Given the description of an element on the screen output the (x, y) to click on. 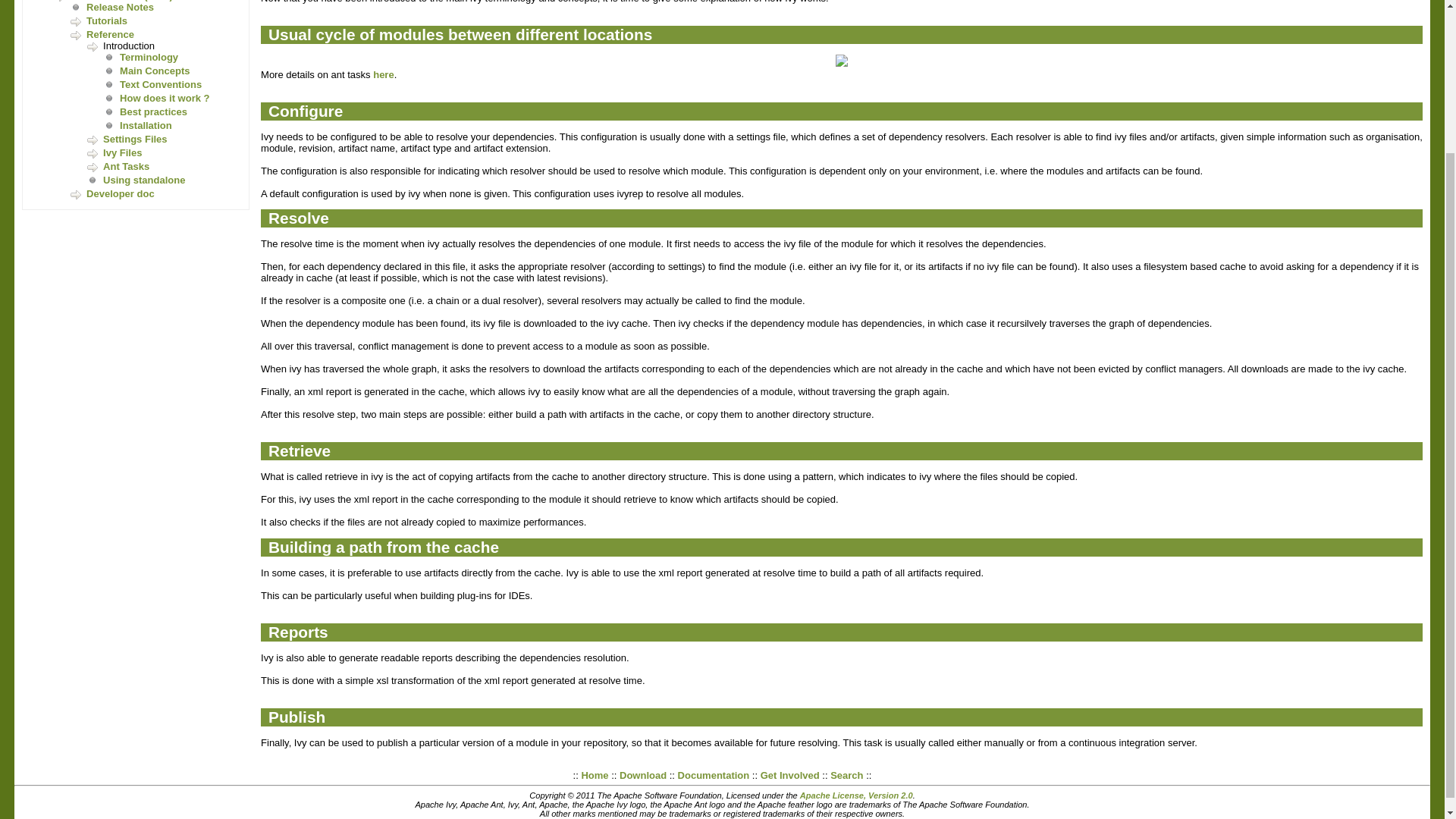
Release Notes (119, 7)
Installation (145, 125)
Main Concepts (154, 70)
Best practices (153, 111)
How does it work ? (164, 98)
Reference (109, 34)
Text Conventions (160, 84)
Terminology (148, 57)
Tutorials (106, 20)
Settings Files (135, 138)
